Given the description of an element on the screen output the (x, y) to click on. 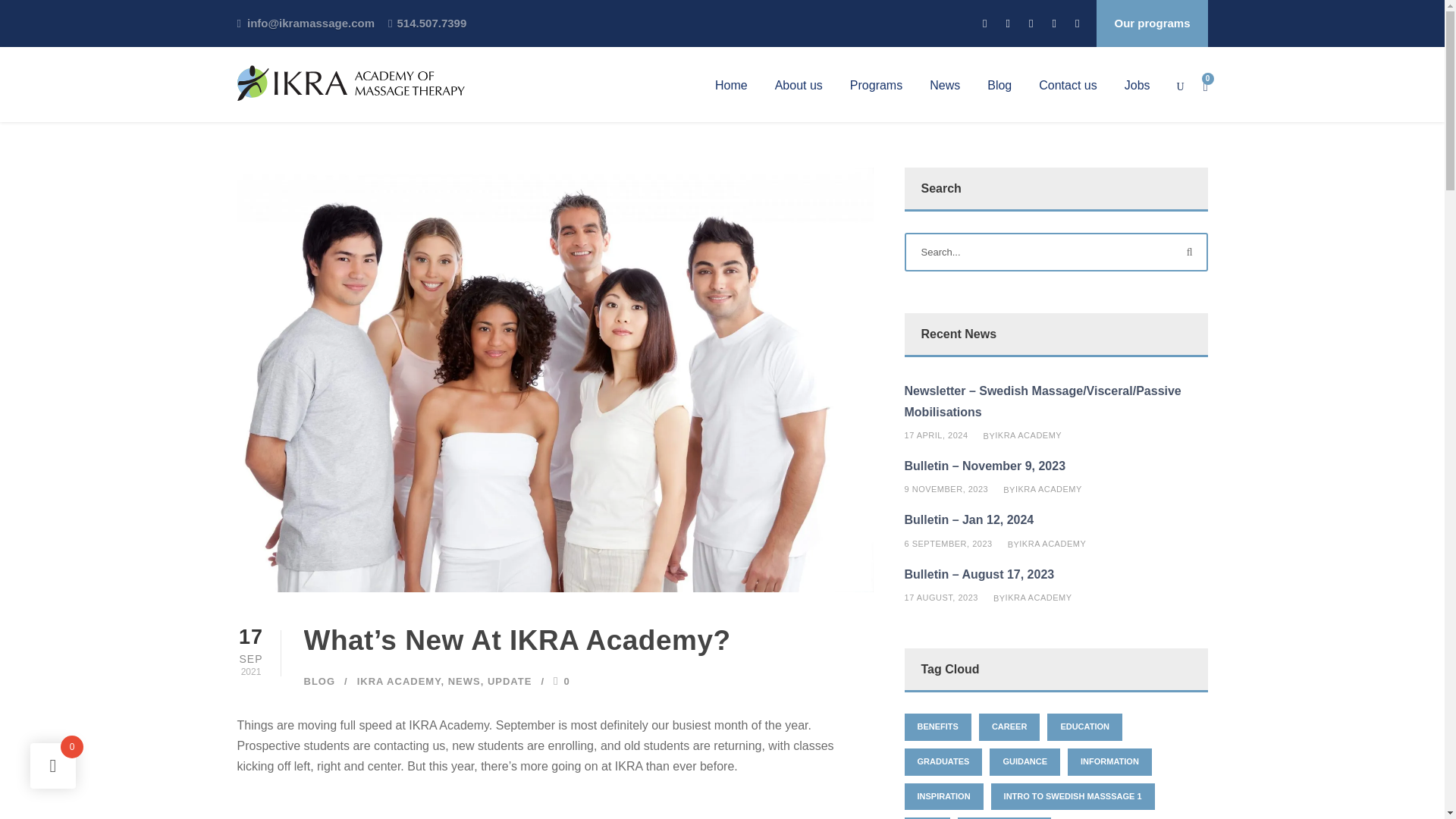
Posts by Ikra Academy (1047, 488)
Posts by Ikra Academy (1027, 434)
Posts by Ikra Academy (1052, 542)
Posts by Ikra Academy (1038, 596)
